Given the description of an element on the screen output the (x, y) to click on. 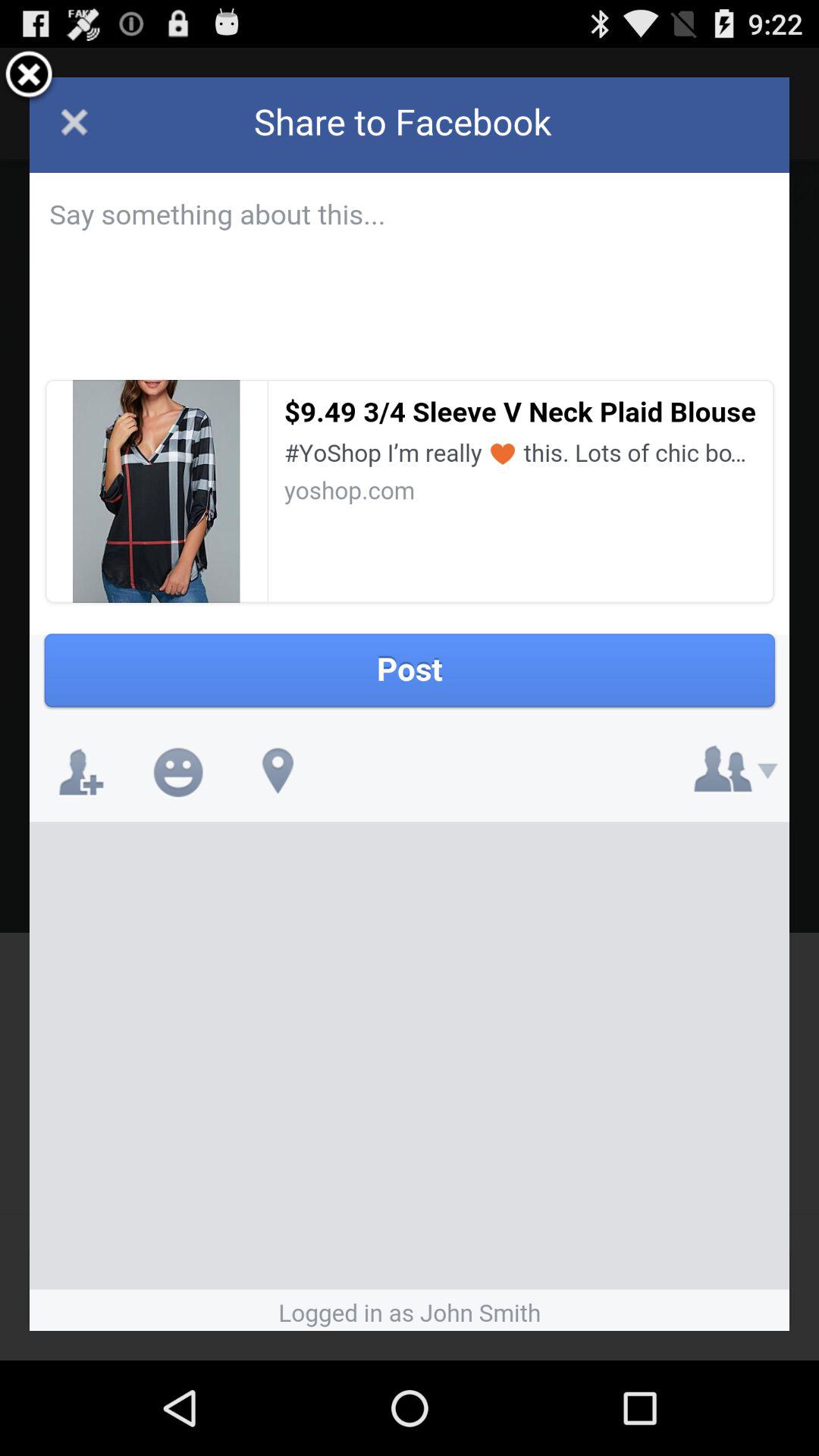
share the post (409, 703)
